Given the description of an element on the screen output the (x, y) to click on. 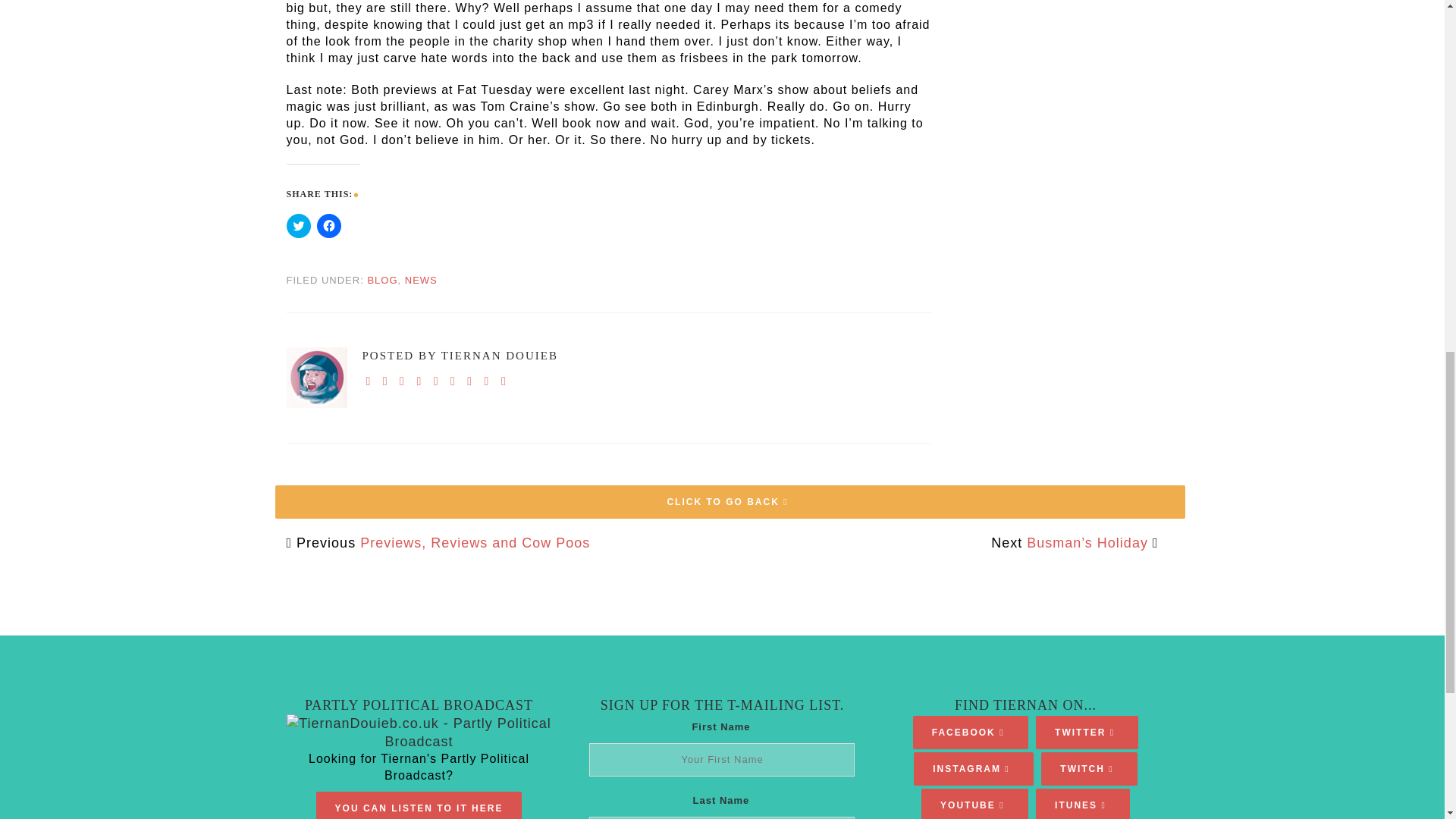
YOU CAN LISTEN TO IT HERE (418, 808)
BLOG (381, 279)
PARTLY POLITICAL BROADCAST (418, 705)
SIGN UP FOR THE T-MAILING LIST. (721, 705)
CLICK TO GO BACK (730, 501)
Tiernan Douieb (316, 377)
TiernanDouieb.co.uk  - Partly Political Broadcast (418, 732)
Click to share on Facebook (328, 225)
CLICK TO GO BACK (729, 485)
Previews, Reviews and Cow Poos (474, 542)
